Given the description of an element on the screen output the (x, y) to click on. 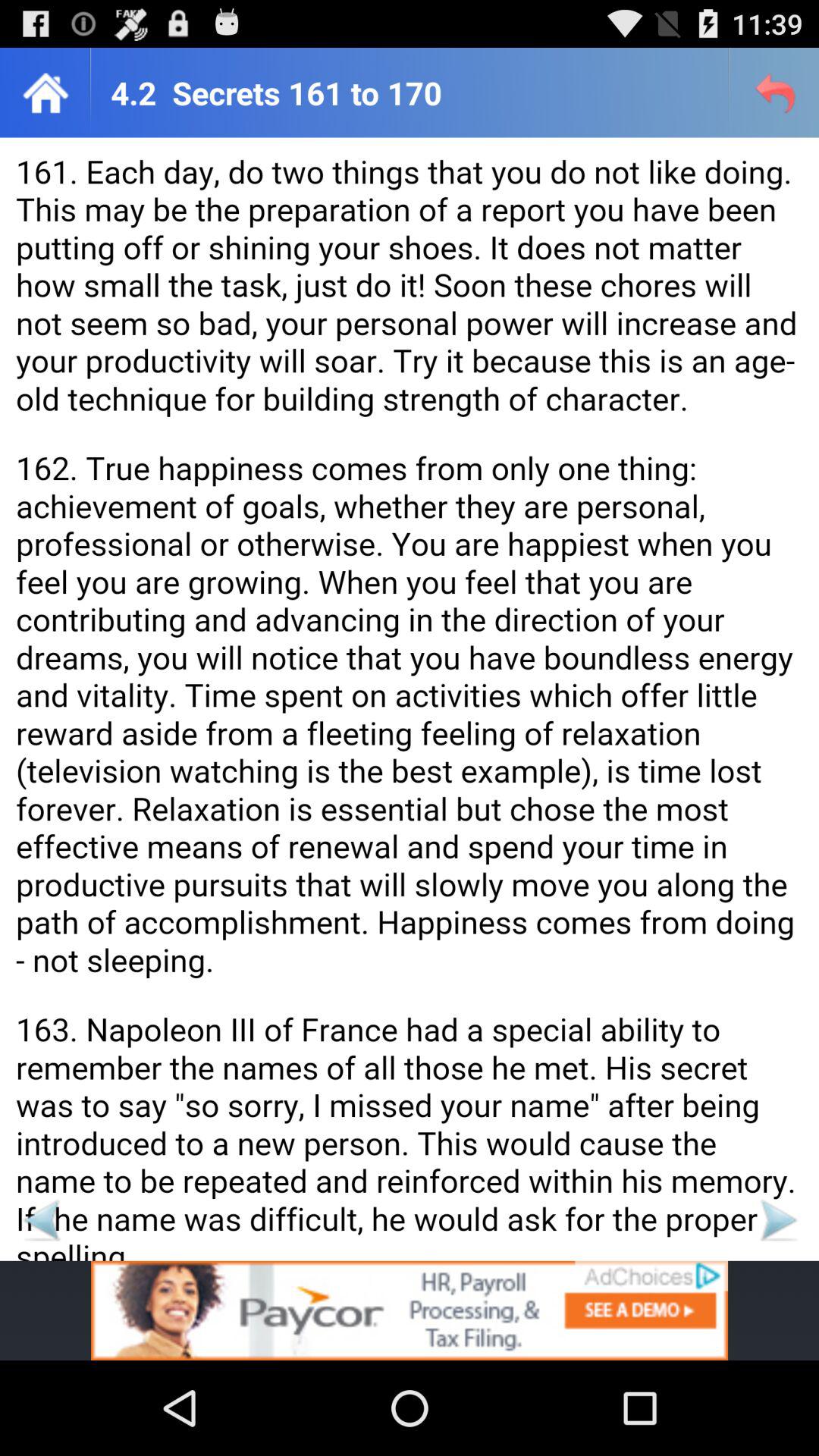
turn page (41, 1219)
